Given the description of an element on the screen output the (x, y) to click on. 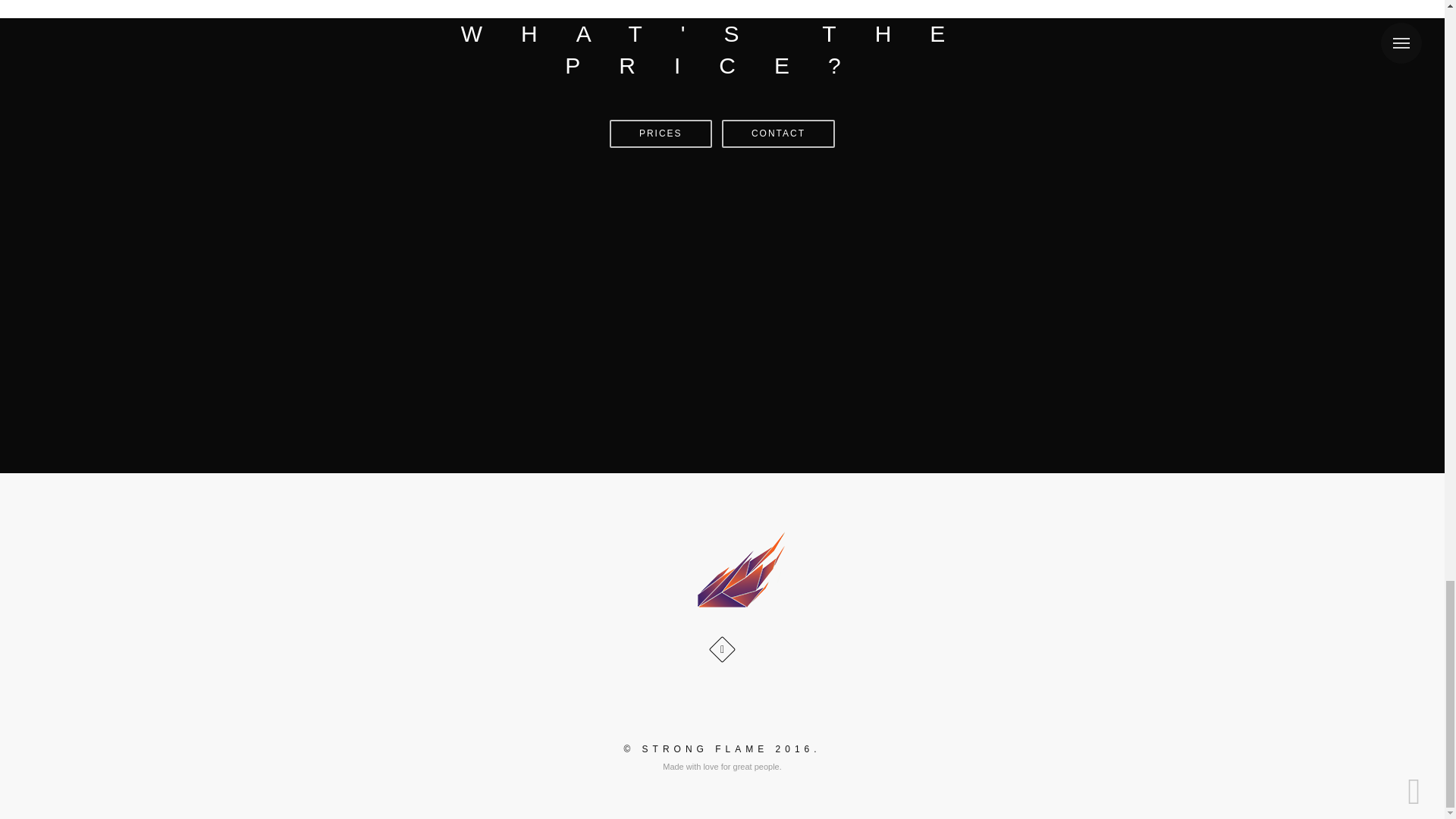
button (778, 133)
PRICES (660, 133)
CONTACT (778, 133)
PRICES   CONTACT (721, 133)
button (660, 133)
STRONG FLAME BARBECUE (721, 570)
